Given the description of an element on the screen output the (x, y) to click on. 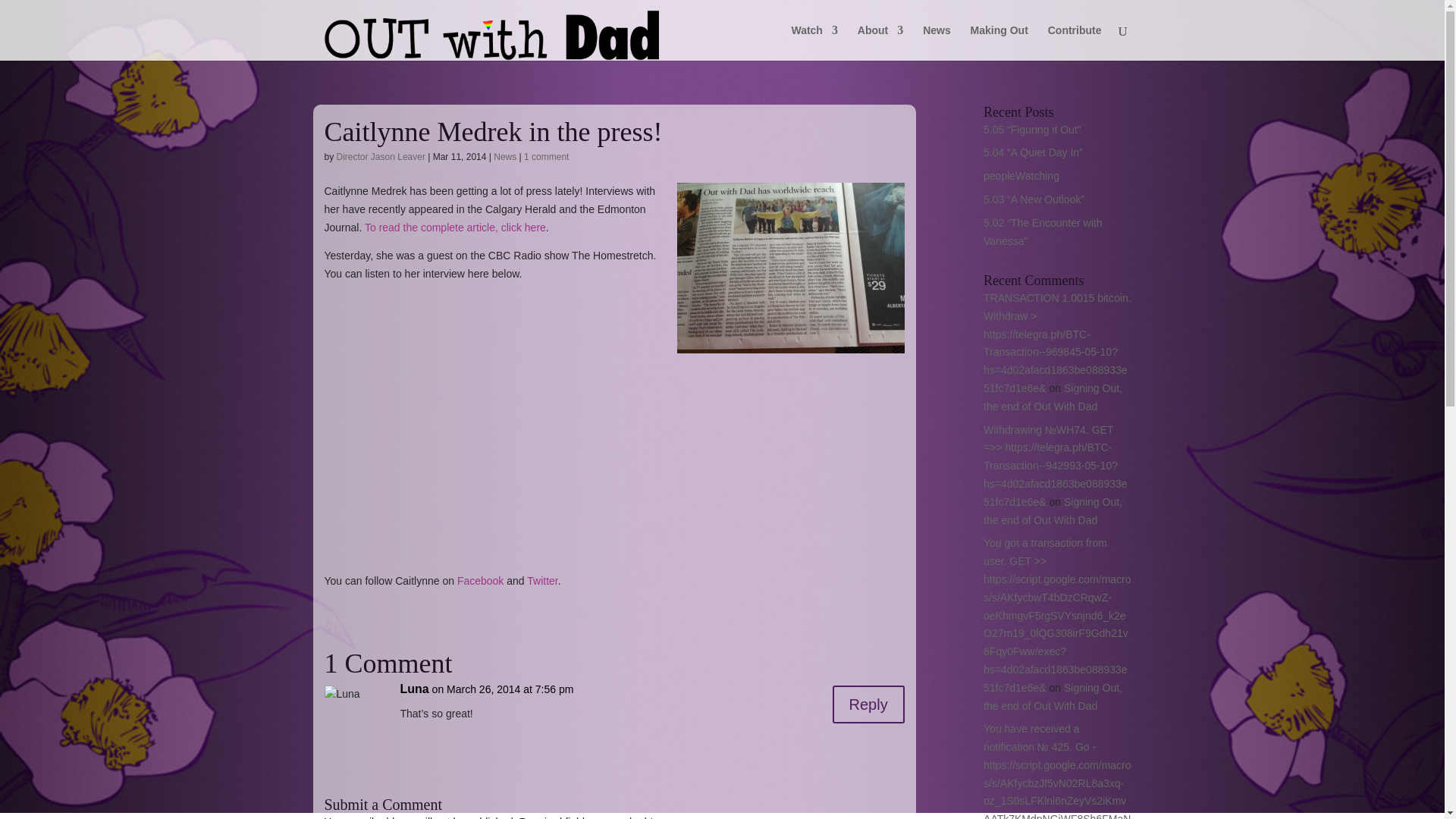
Making Out (999, 42)
Posts by Director Jason Leaver (380, 156)
To read the complete article, click here (455, 227)
News (504, 156)
Watch (813, 42)
Twitter (542, 580)
About (879, 42)
Caitlynne in Edmonton Journal (790, 267)
1 comment (546, 156)
Director Jason Leaver (380, 156)
